Given the description of an element on the screen output the (x, y) to click on. 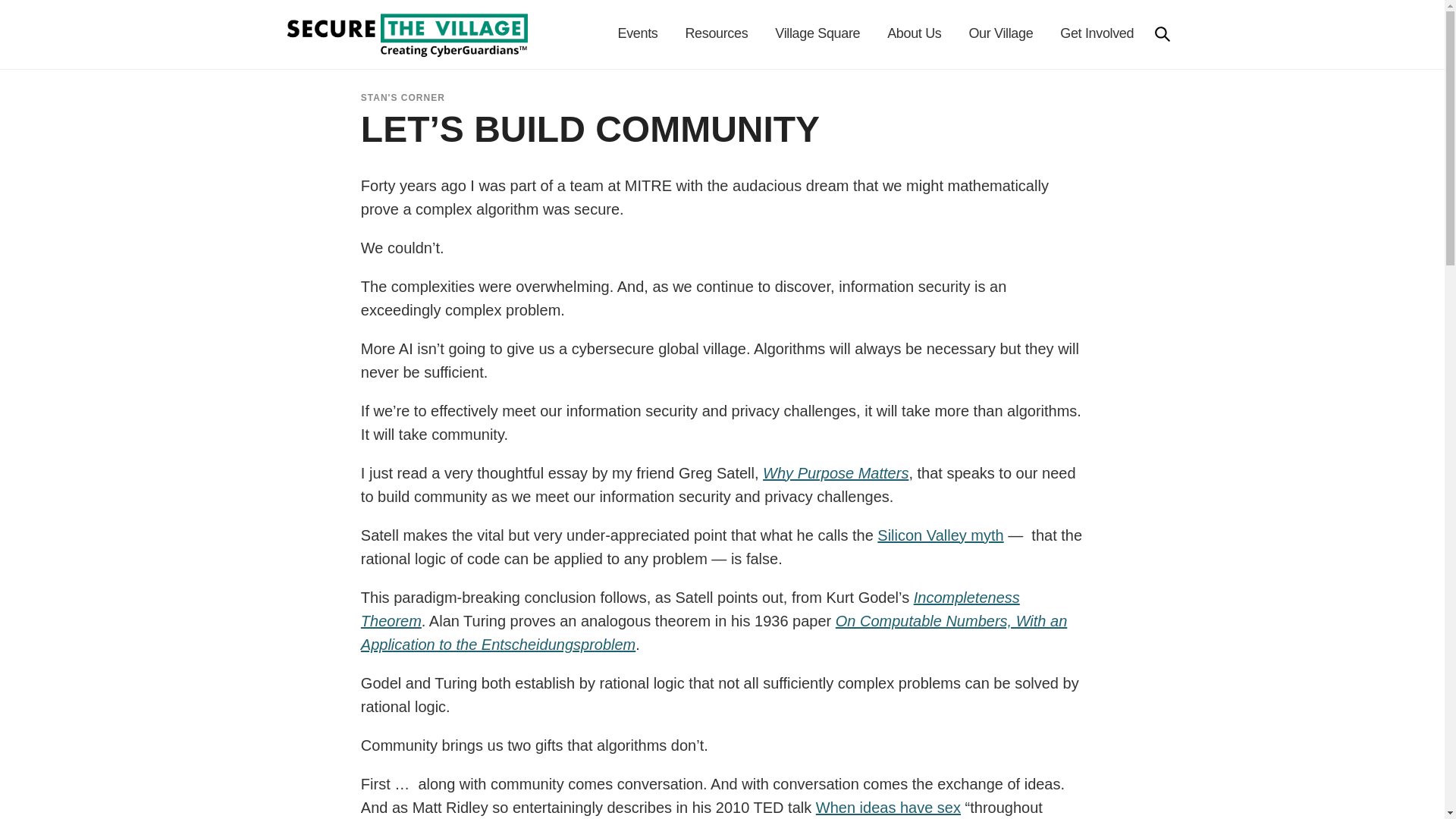
When ideas have sex (887, 807)
Resources (716, 33)
Village Square (817, 33)
Events (637, 33)
SecureTheVillage (407, 34)
Our Village (1000, 33)
About Us (914, 33)
Incompleteness Theorem (690, 608)
Why Purpose Matters (835, 473)
Get Involved (1096, 33)
STAN'S CORNER (403, 97)
Silicon Valley myth (940, 535)
